Given the description of an element on the screen output the (x, y) to click on. 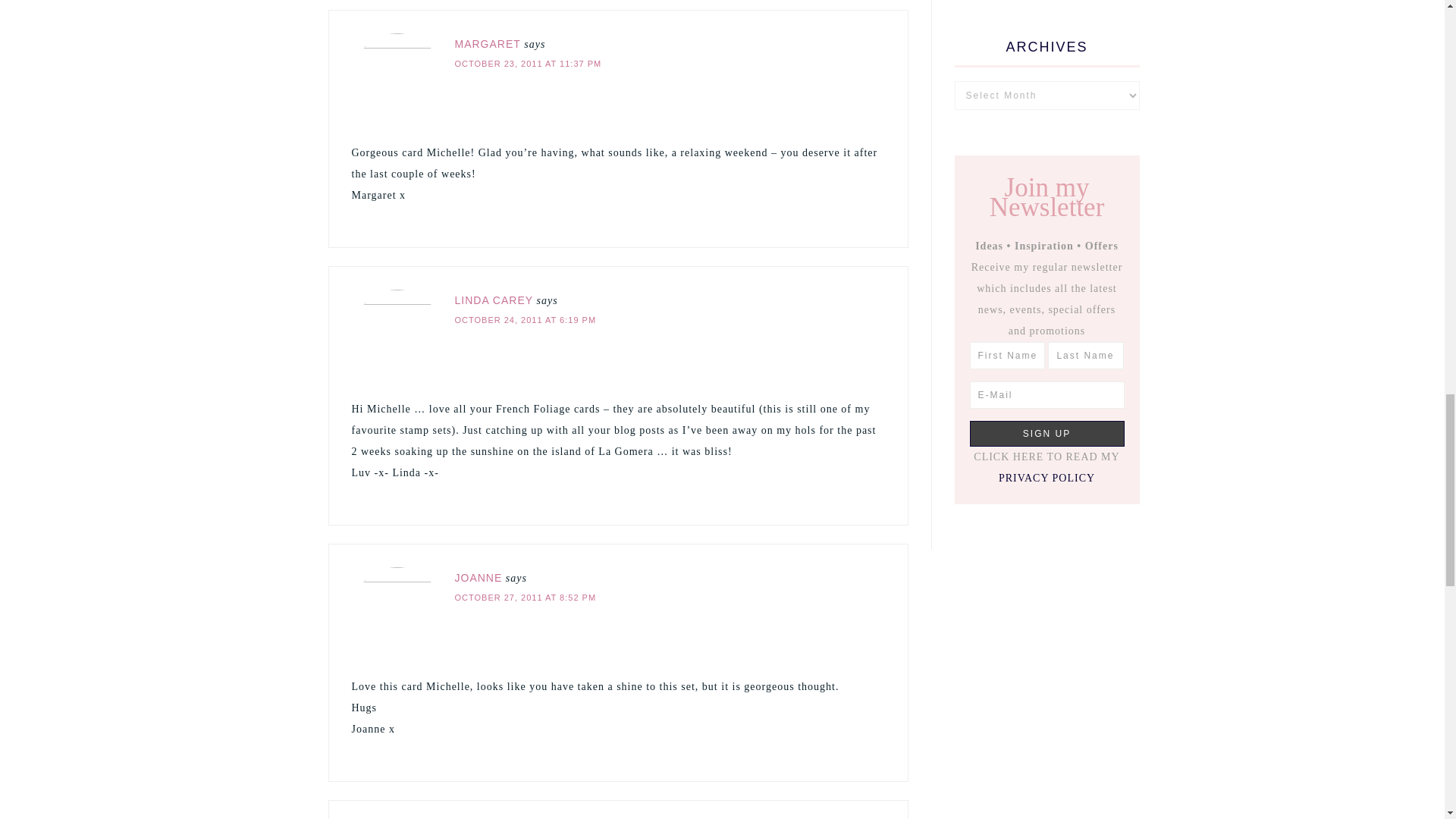
OCTOBER 24, 2011 AT 6:19 PM (525, 319)
JOANNE (478, 577)
sign up (1046, 432)
OCTOBER 23, 2011 AT 11:37 PM (528, 62)
OCTOBER 27, 2011 AT 8:52 PM (525, 596)
MARGARET (487, 43)
LINDA CAREY (494, 300)
